Given the description of an element on the screen output the (x, y) to click on. 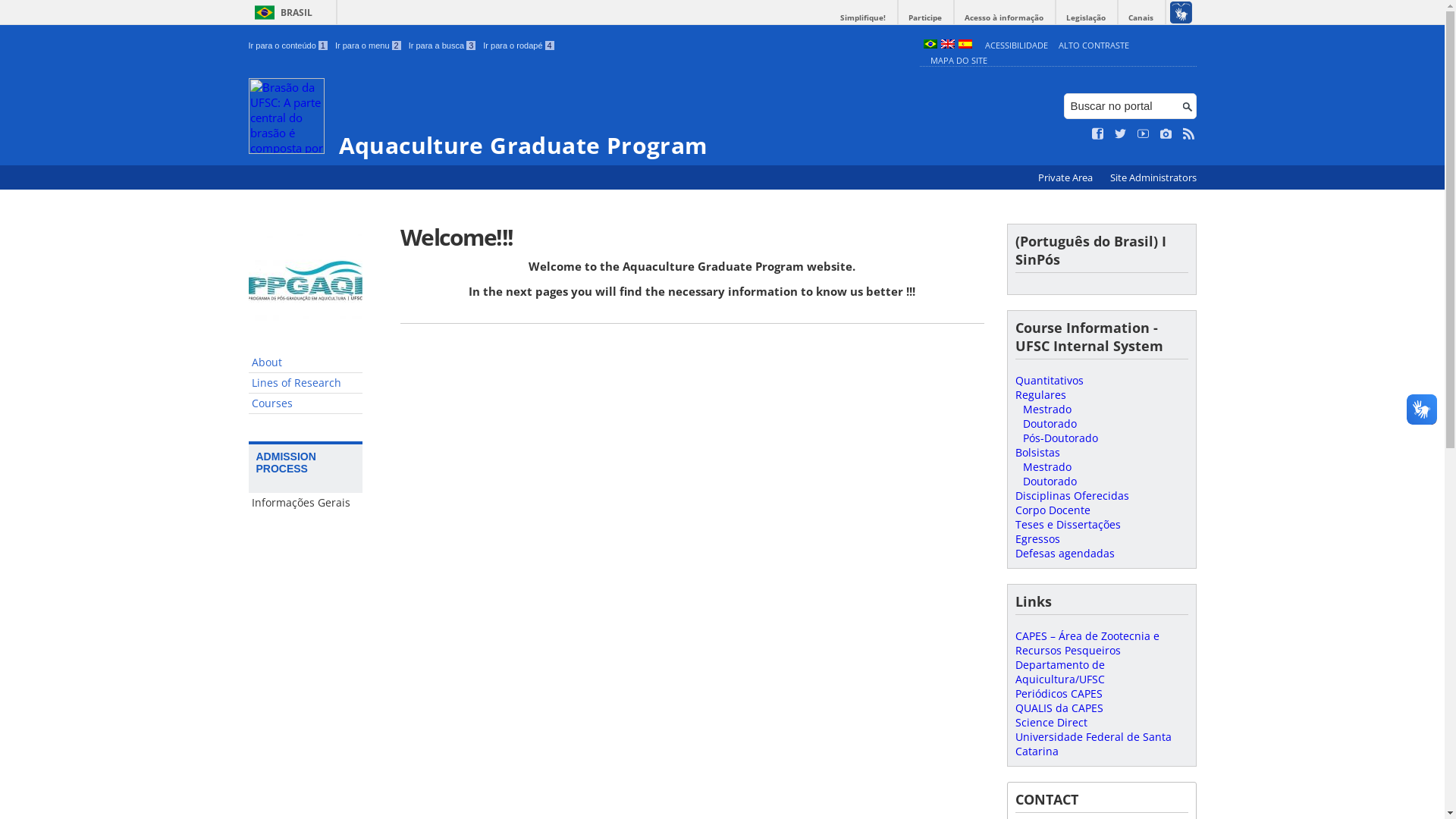
Site Administrators Element type: text (1153, 177)
BRASIL Element type: text (280, 12)
Departamento de Aquicultura/UFSC Element type: text (1059, 671)
Mestrado Element type: text (1046, 466)
Welcome!!! Element type: text (692, 236)
Science Direct Element type: text (1050, 722)
Ir para a busca 3 Element type: text (442, 45)
Participe Element type: text (924, 18)
Aquaculture Graduate Program Element type: text (580, 117)
ALTO CONTRASTE Element type: text (1093, 44)
Bolsistas Element type: text (1036, 452)
Disciplinas Oferecidas Element type: text (1071, 495)
Mestrado Element type: text (1046, 408)
Courses Element type: text (305, 403)
MAPA DO SITE Element type: text (957, 59)
Universidade Federal de Santa Catarina Element type: text (1092, 743)
Veja no Instagram Element type: hover (1166, 134)
Doutorado Element type: text (1049, 480)
About Element type: text (305, 362)
Ir para o menu 2 Element type: text (368, 45)
Lines of Research Element type: text (305, 383)
Siga no Twitter Element type: hover (1120, 134)
English (en) Element type: hover (946, 44)
Regulares Element type: text (1039, 394)
Curta no Facebook Element type: hover (1098, 134)
Egressos Element type: text (1036, 538)
Defesas agendadas Element type: text (1063, 553)
Simplifique! Element type: text (862, 18)
Canais Element type: text (1140, 18)
Quantitativos Element type: text (1048, 380)
Corpo Docente Element type: text (1051, 509)
QUALIS da CAPES Element type: text (1058, 707)
Doutorado Element type: text (1049, 423)
Private Area Element type: text (1065, 177)
ACESSIBILIDADE Element type: text (1016, 44)
